Given the description of an element on the screen output the (x, y) to click on. 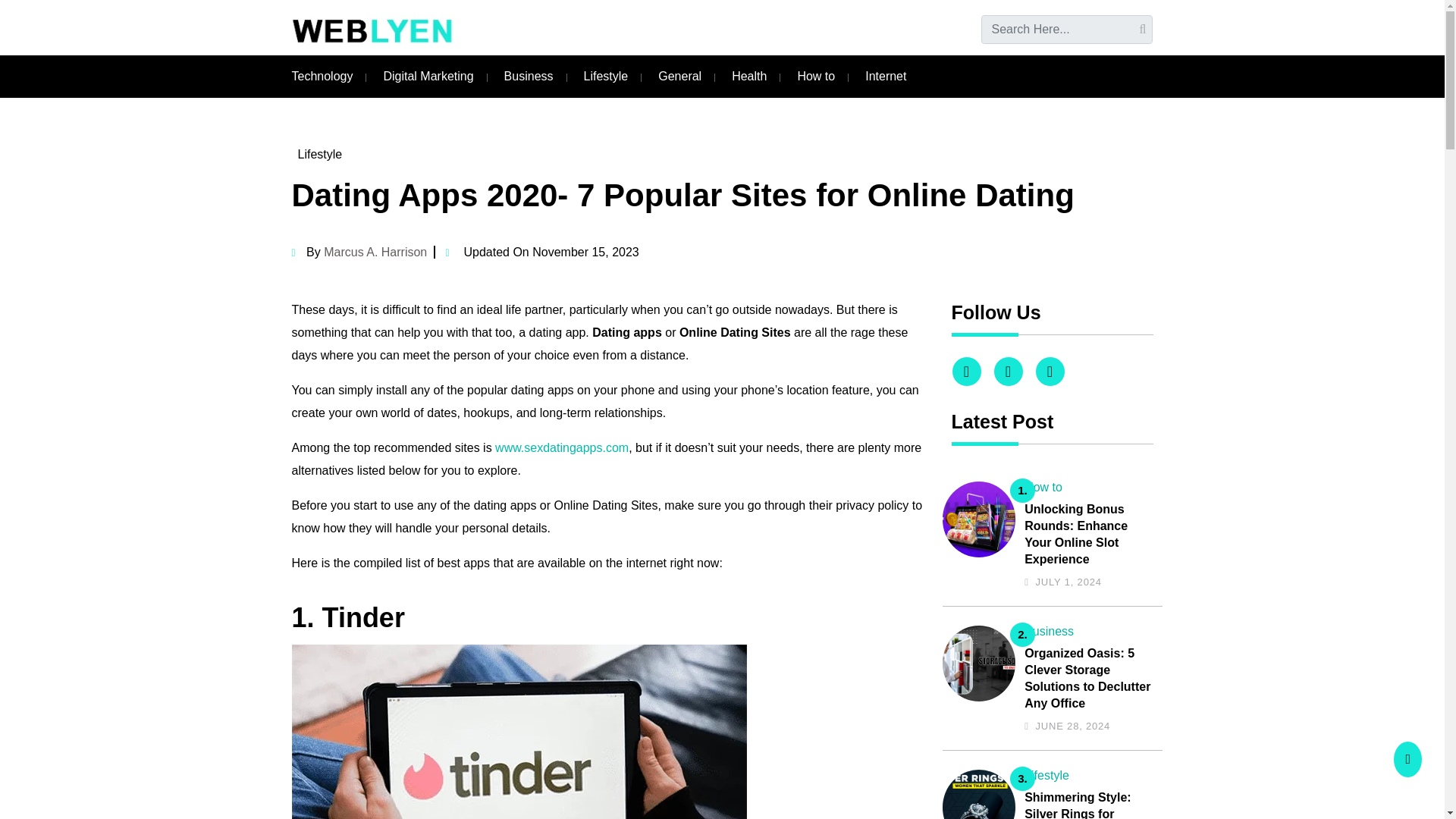
Technology (321, 75)
Lifestyle (1046, 775)
Unlocking Bonus Rounds: Enhance Your Online Slot Experience (1089, 534)
How to (1043, 486)
Search for: (1067, 29)
Business (528, 75)
Shimmering Style: Silver Rings for Women That Sparkle (1089, 804)
Digital Marketing (427, 75)
Marcus A. Harrison (374, 251)
Business (1049, 631)
How to (815, 75)
General (679, 75)
Internet (884, 75)
Health (749, 75)
